Given the description of an element on the screen output the (x, y) to click on. 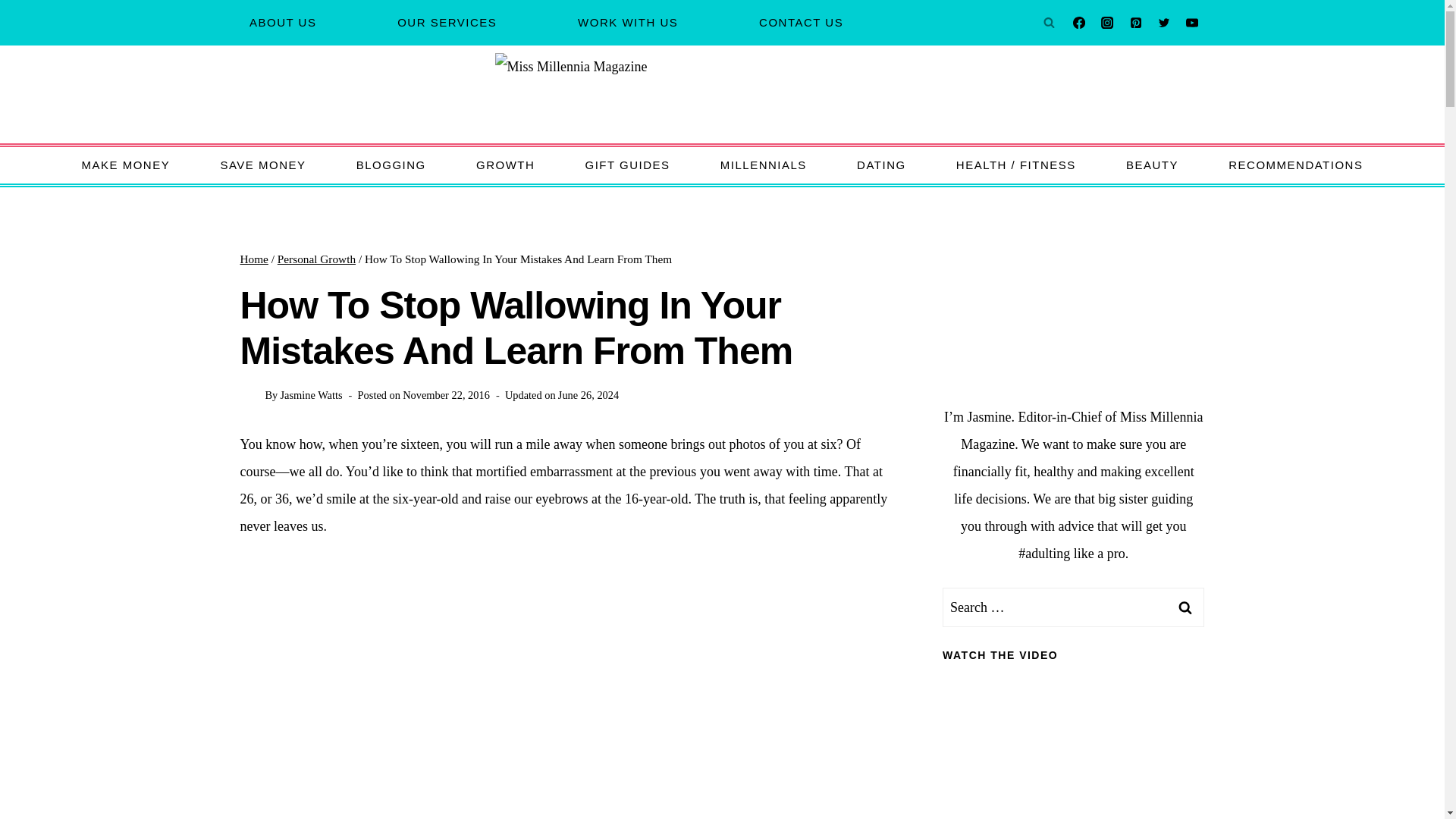
GROWTH (505, 165)
MILLENNIALS (763, 165)
DATING (881, 165)
OUR SERVICES (447, 22)
BEAUTY (1153, 165)
CONTACT US (801, 22)
Search (1185, 607)
GIFT GUIDES (627, 165)
Search (1185, 607)
How To Stop Wallowing In Your Mistakes And Learn From Them 1 (567, 691)
